Given the description of an element on the screen output the (x, y) to click on. 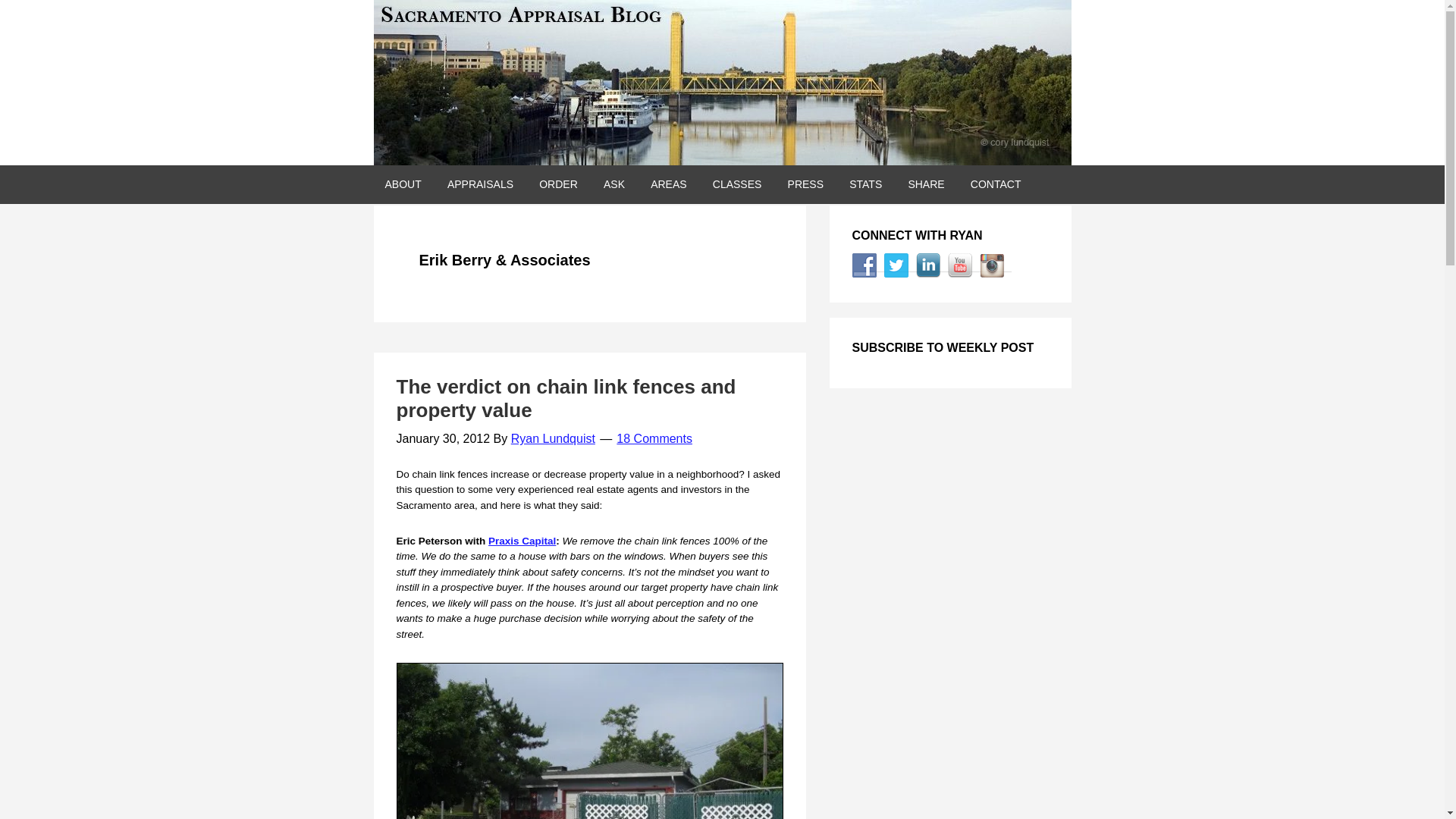
Praxis Capital (521, 541)
18 Comments (654, 438)
ABOUT (402, 184)
CONTACT (995, 184)
example of chain link fence (589, 740)
Sacramento Appraisal Blog (721, 82)
Praxis Capital (521, 541)
ASK (614, 184)
ORDER (558, 184)
